Given the description of an element on the screen output the (x, y) to click on. 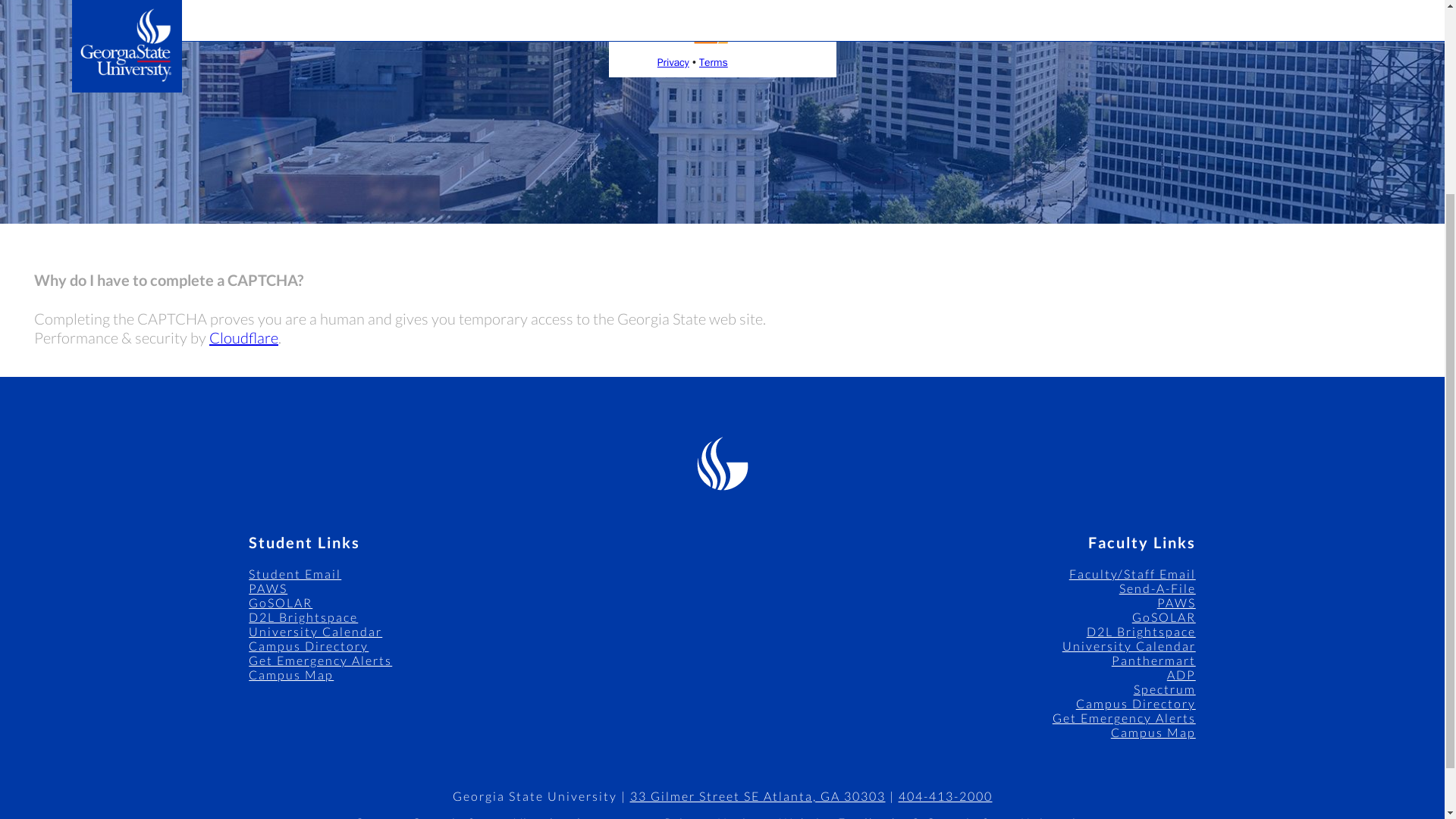
PAWS (267, 587)
Campus Map (290, 674)
ADP (1181, 674)
Get Emergency Alerts (319, 659)
GoSOLAR (280, 602)
33 Gilmer Street SE Atlanta, GA 30303 (756, 795)
Get Emergency Alerts (1123, 717)
D2L Brightspace (303, 616)
GoSOLAR (1163, 616)
Panthermart (1153, 659)
